Given the description of an element on the screen output the (x, y) to click on. 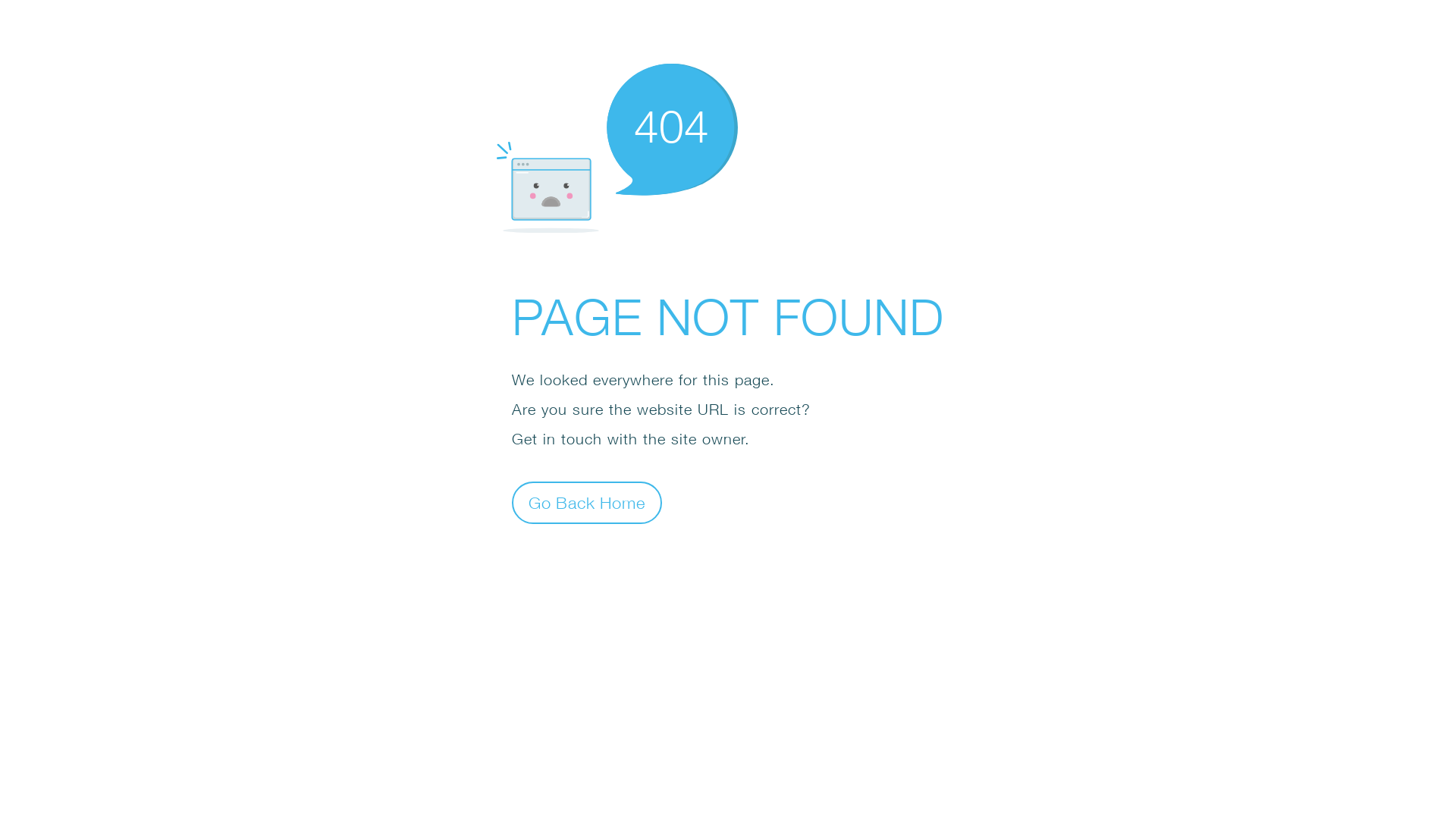
Go Back Home Element type: text (586, 502)
